Given the description of an element on the screen output the (x, y) to click on. 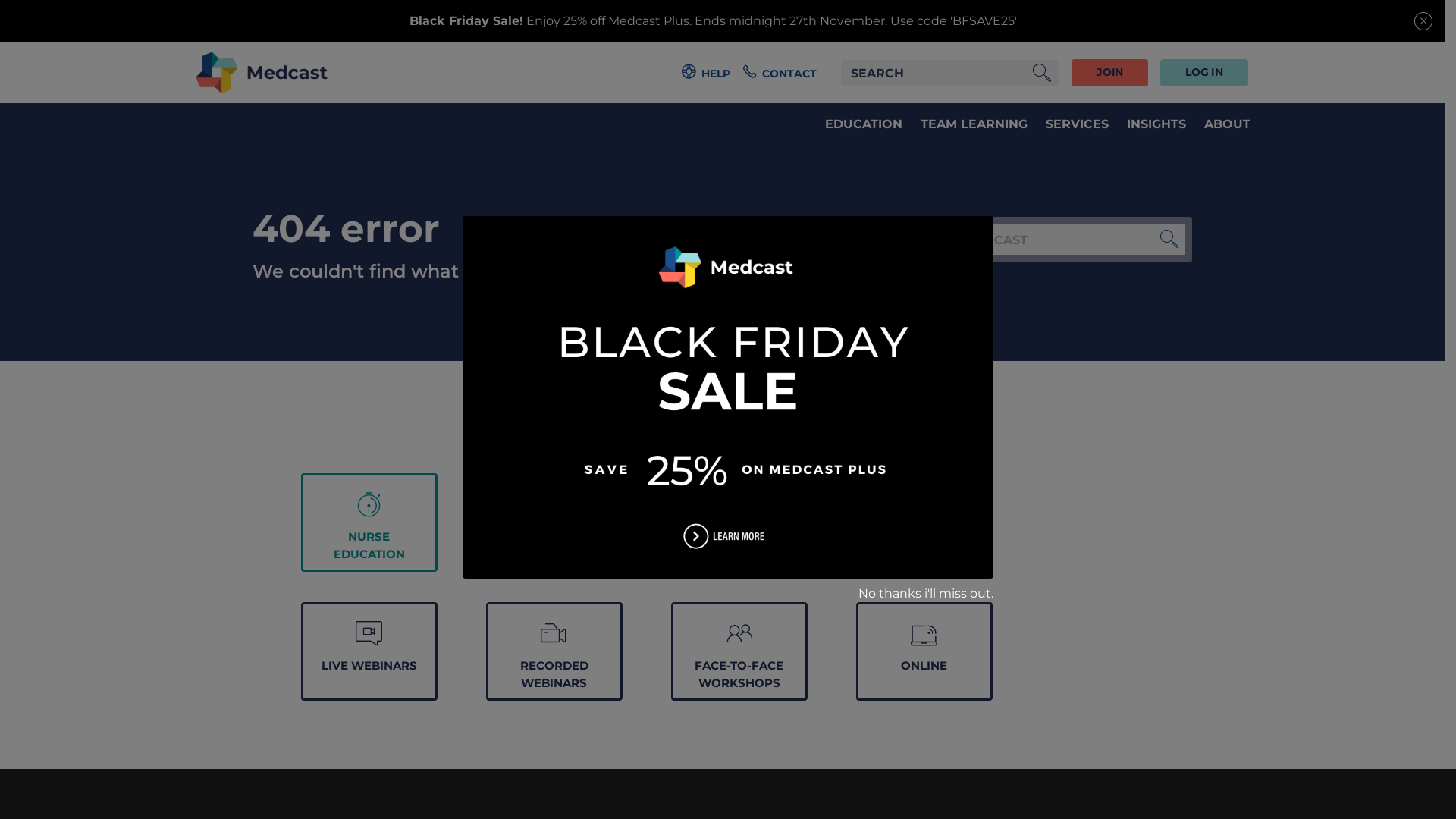
LOG IN Element type: text (1203, 72)
CONTACT Element type: text (779, 72)
HELP Element type: text (705, 72)
JOIN Element type: text (1109, 72)
